Given the description of an element on the screen output the (x, y) to click on. 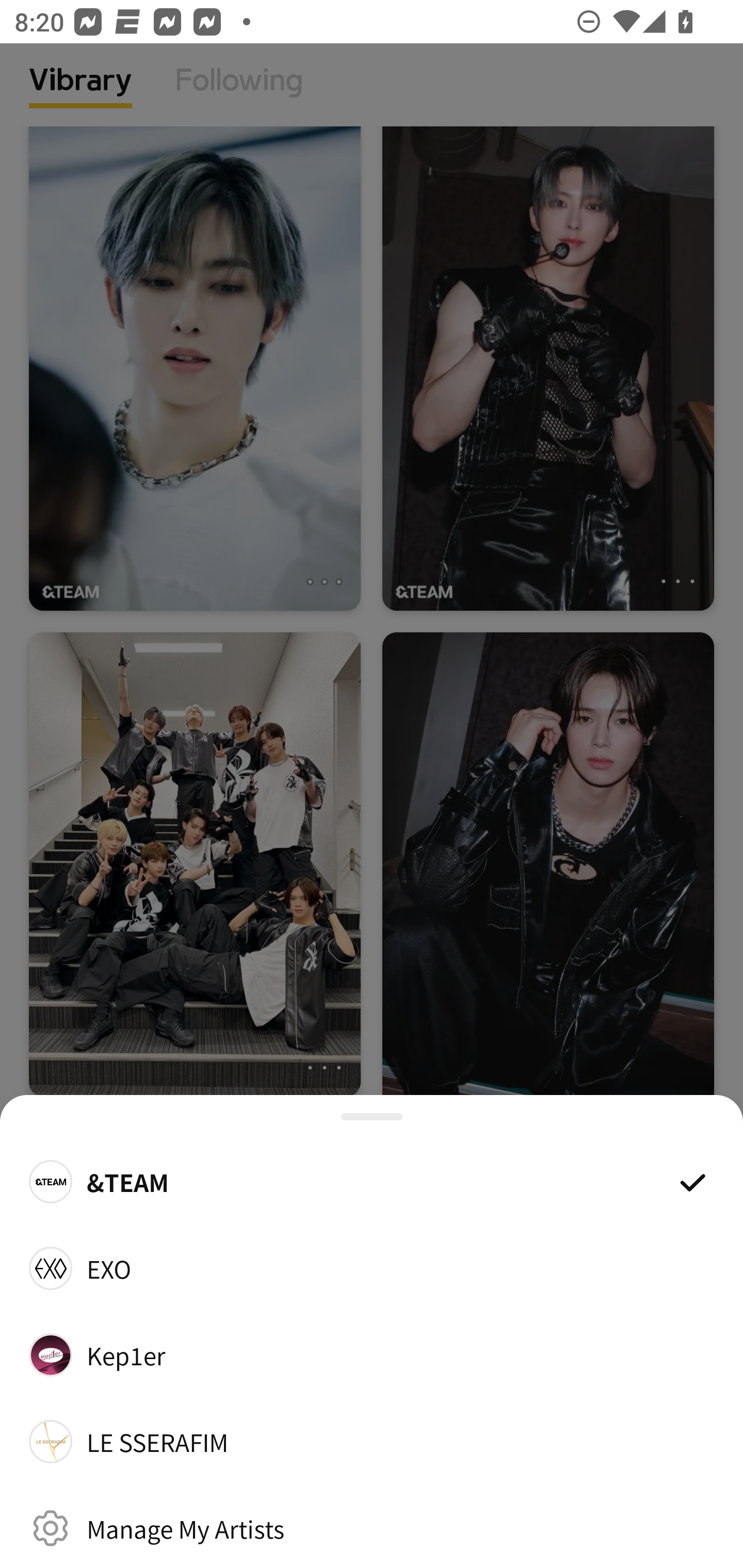
&TEAM (371, 1181)
EXO (371, 1268)
Kep1er (371, 1354)
LE SSERAFIM (371, 1441)
Manage My Artists (371, 1527)
